Given the description of an element on the screen output the (x, y) to click on. 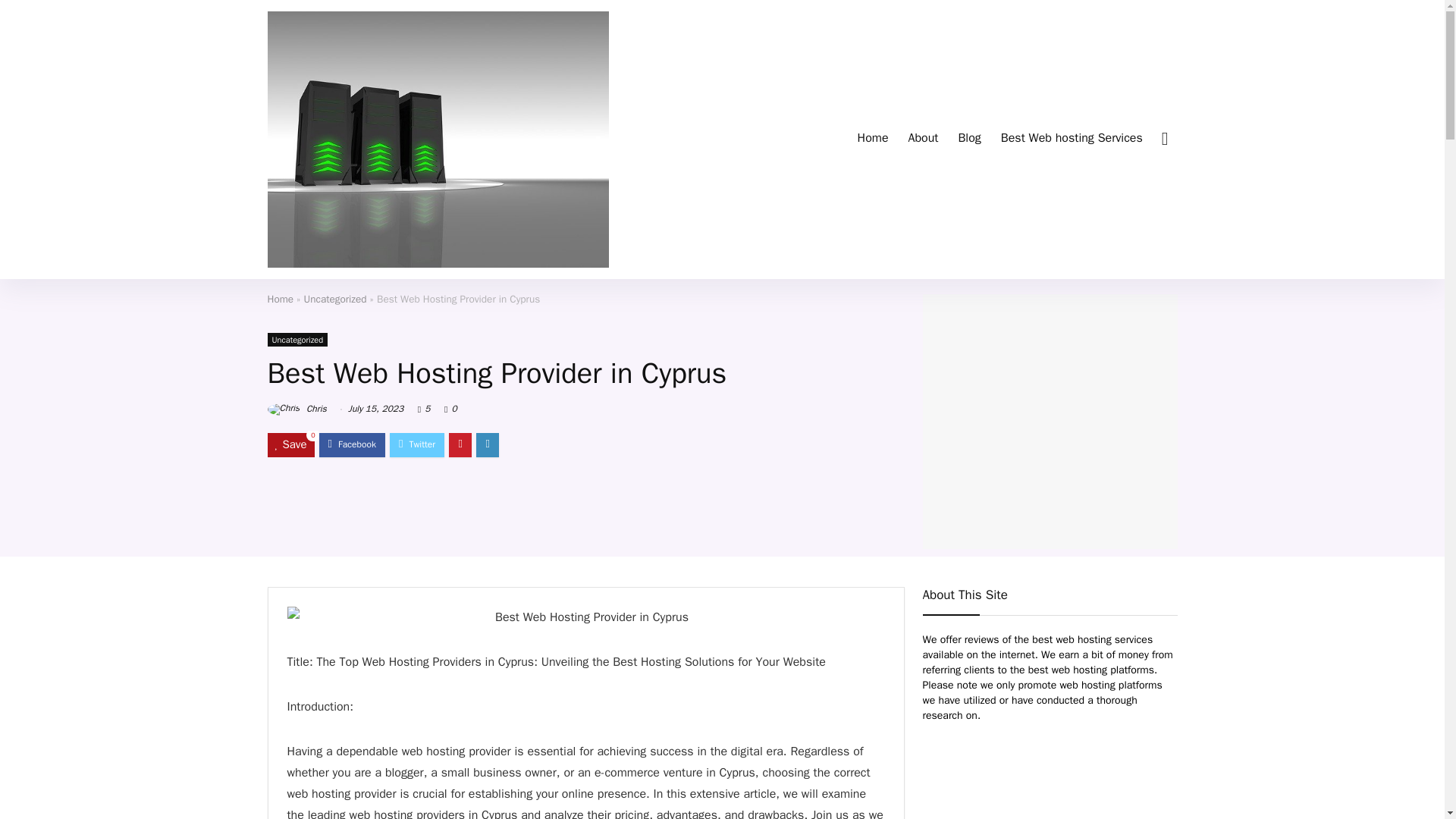
Uncategorized (296, 338)
Blog (968, 139)
Advertisement (1048, 784)
Best Web hosting Services (1072, 139)
Home (872, 139)
Chris (296, 408)
Home (280, 298)
View all posts in Uncategorized (296, 338)
About (922, 139)
Uncategorized (335, 298)
